Given the description of an element on the screen output the (x, y) to click on. 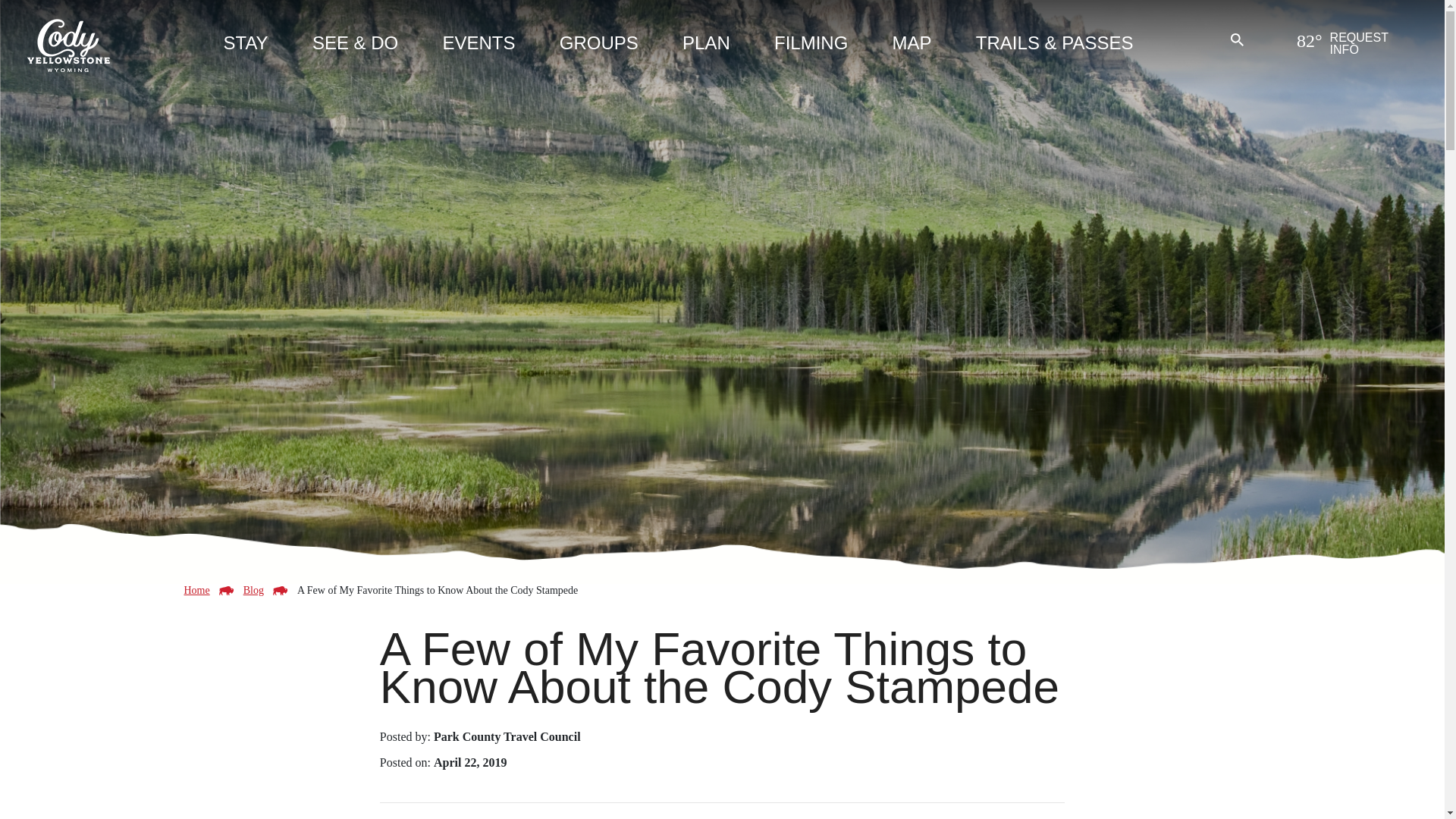
Plan your Stay (244, 45)
EVENTS (478, 45)
REQUEST INFO (1375, 48)
Calendar of Events (478, 45)
MAP (911, 45)
Home (196, 590)
STAY (244, 45)
A Few of My Favorite Things to Know About the Cody Stampede (437, 590)
Blog (253, 590)
CODY YELLOWSTONE (68, 44)
Group Travel (599, 45)
Return to Homepage (196, 590)
Return to Blog (253, 590)
Cody Yellowstone (68, 44)
Filming (810, 45)
